Given the description of an element on the screen output the (x, y) to click on. 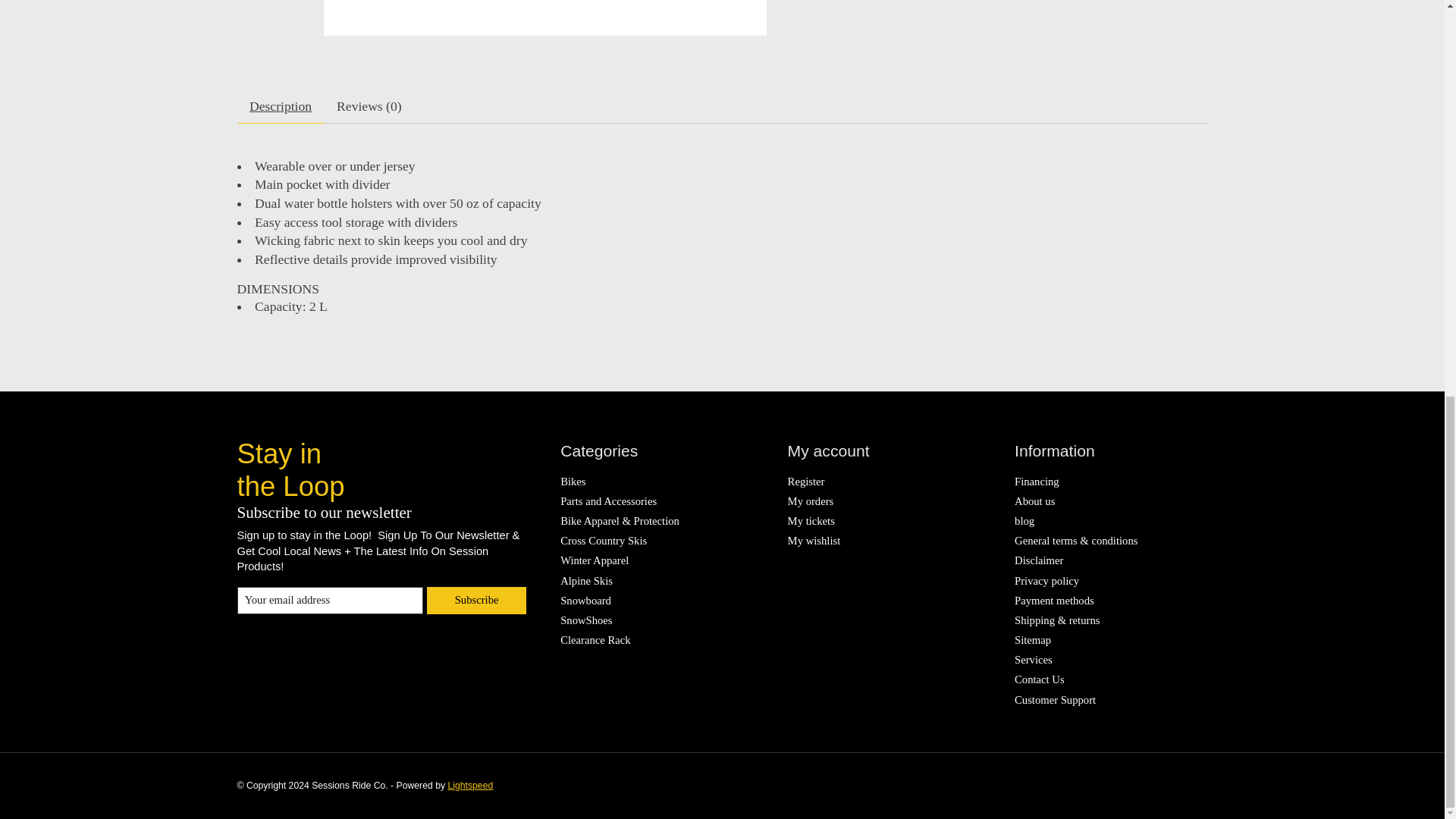
My tickets (810, 521)
Register (806, 481)
blog (1023, 521)
My orders (810, 500)
My wishlist (814, 540)
Financing (1036, 481)
About us (1034, 500)
